Given the description of an element on the screen output the (x, y) to click on. 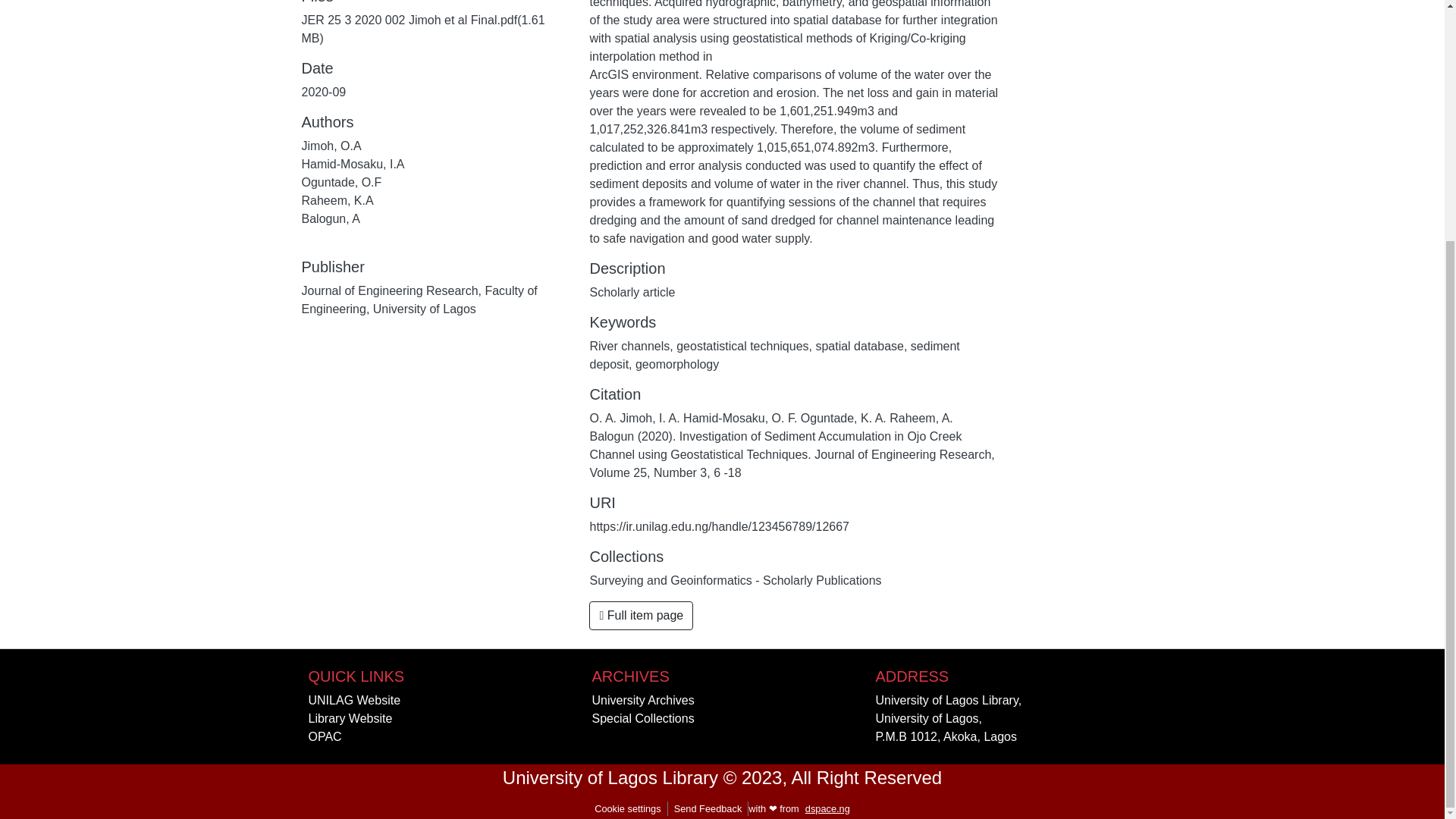
Full item page (641, 615)
Special Collections (642, 717)
OPAC (323, 736)
Cookie settings (627, 808)
Library Website (349, 717)
Send Feedback (708, 808)
UNILAG Website (353, 699)
dspace.ng (827, 808)
Surveying and Geoinformatics - Scholarly Publications (734, 580)
University Archives (642, 699)
